Given the description of an element on the screen output the (x, y) to click on. 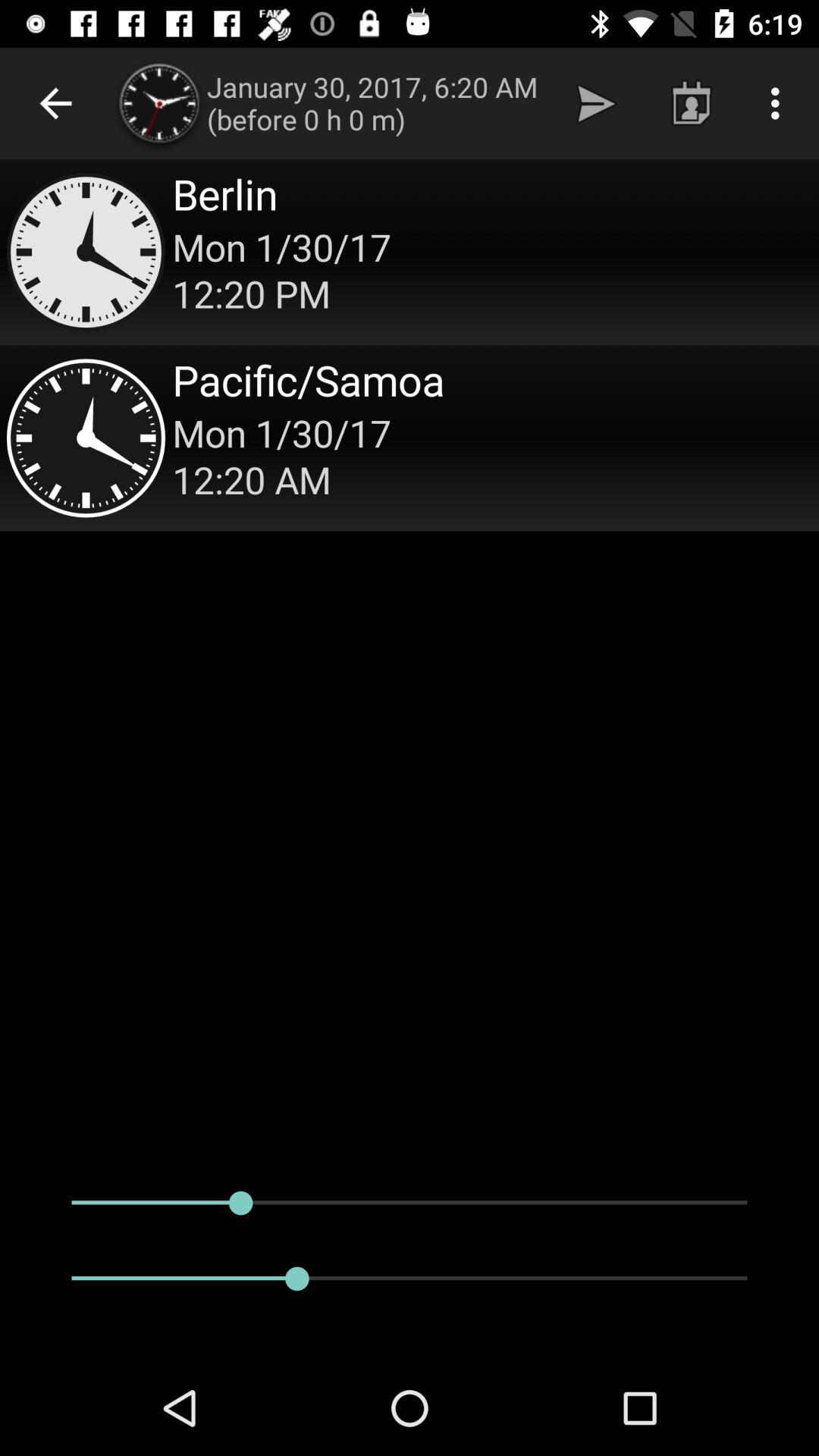
open clock menu (409, 252)
